Given the description of an element on the screen output the (x, y) to click on. 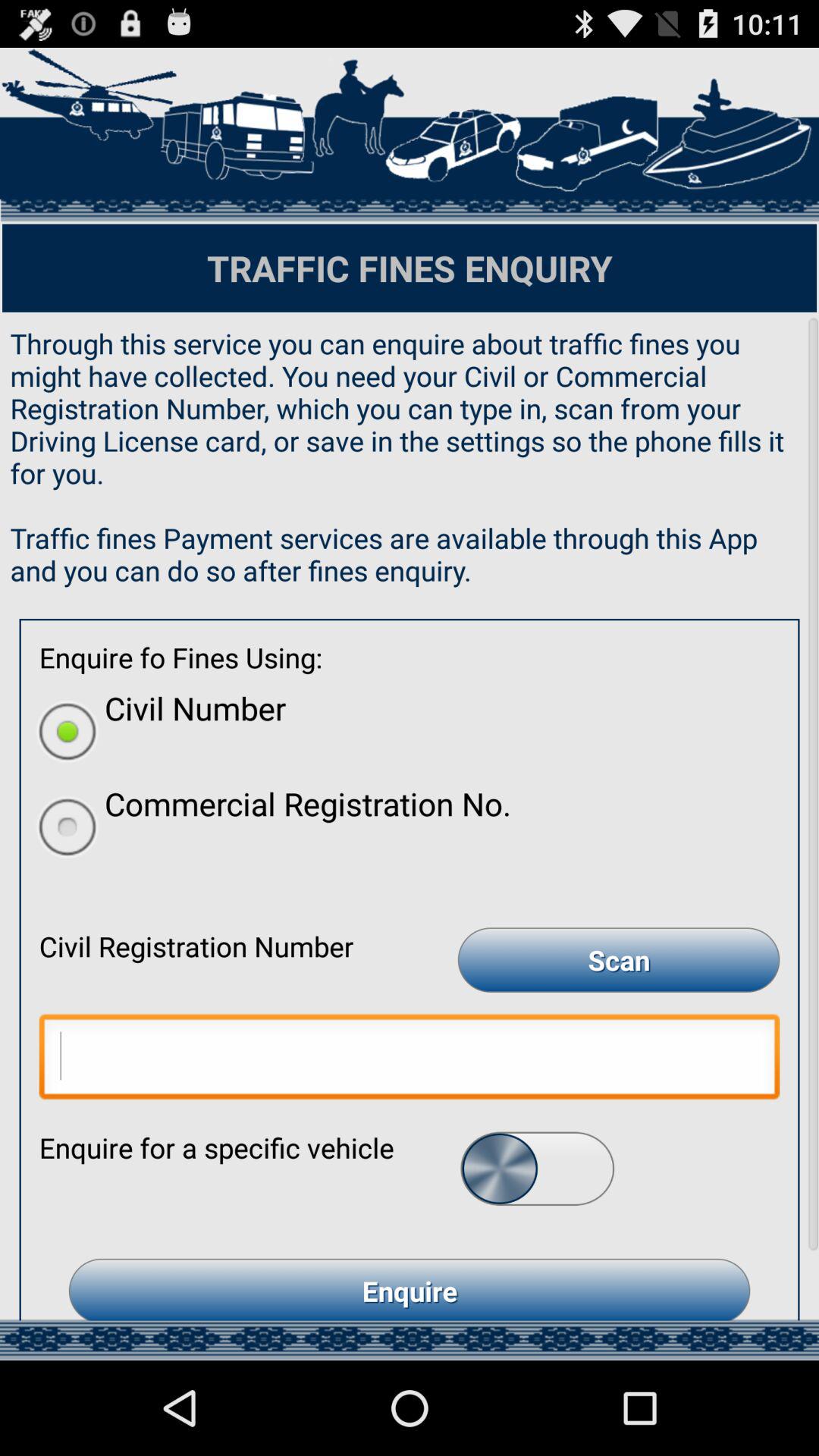
select the button (537, 1168)
